Given the description of an element on the screen output the (x, y) to click on. 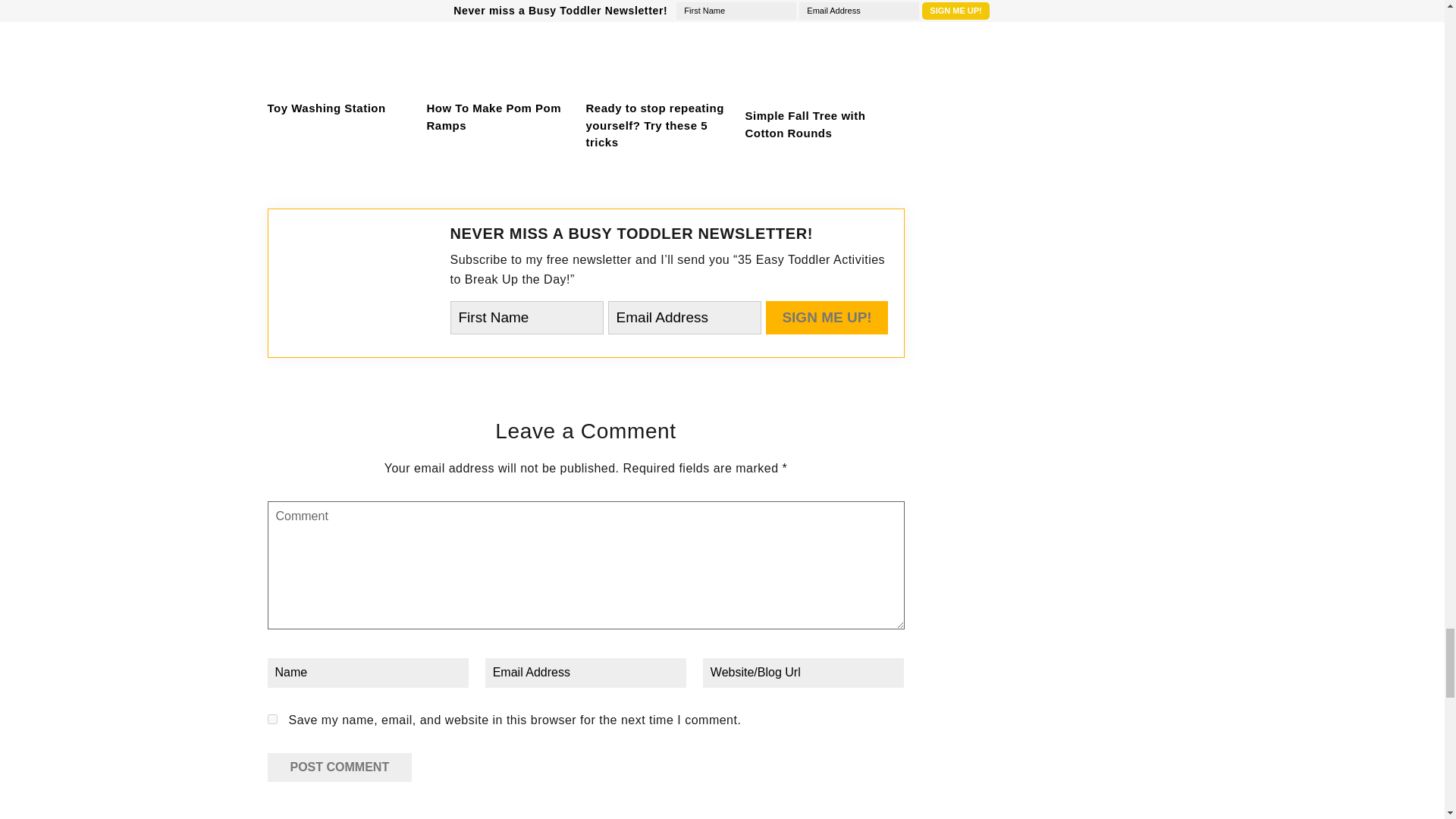
SIGN ME UP! (826, 317)
yes (271, 718)
Post Comment (339, 767)
